Given the description of an element on the screen output the (x, y) to click on. 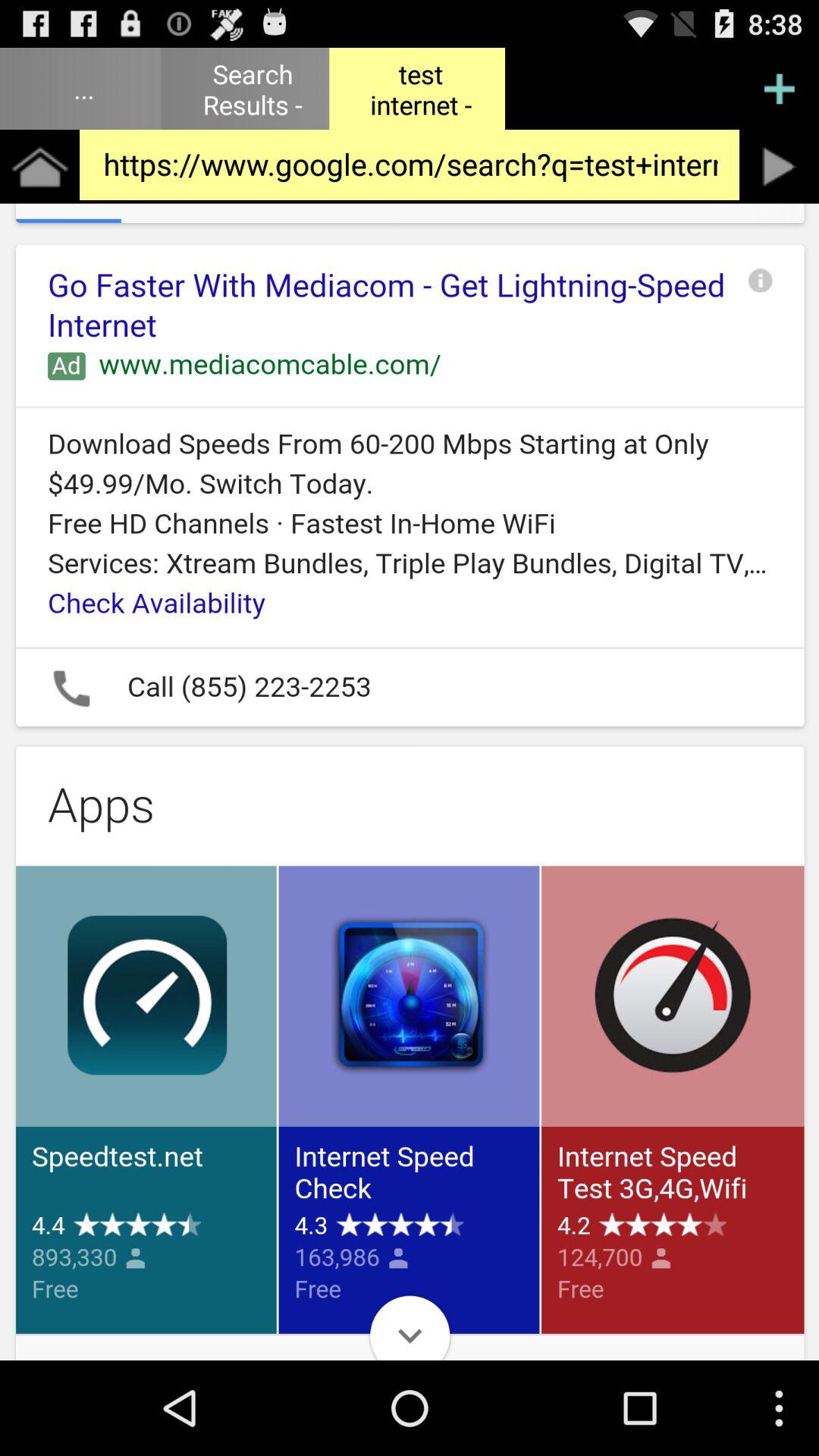
go back (779, 166)
